Given the description of an element on the screen output the (x, y) to click on. 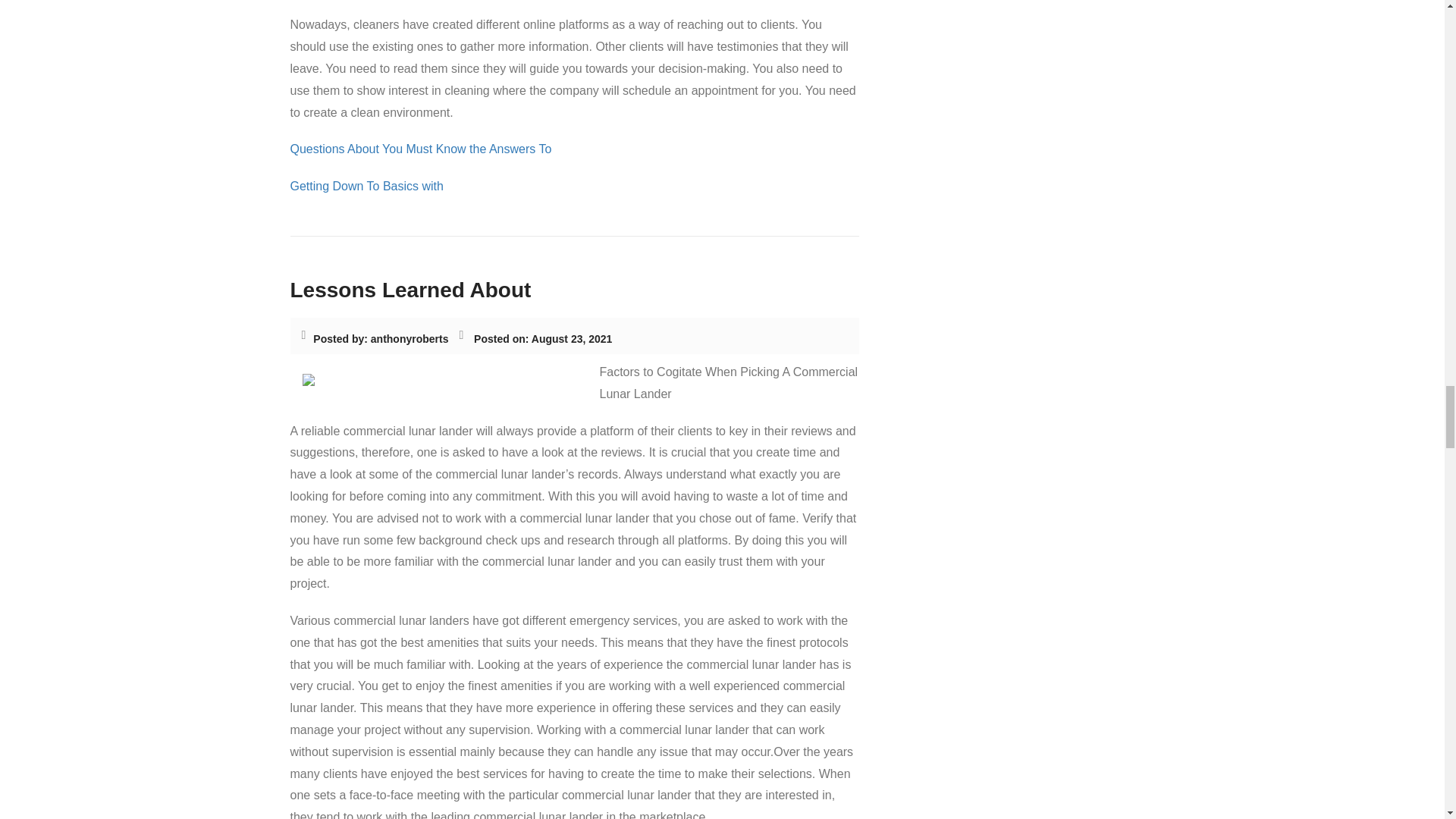
Questions About You Must Know the Answers To (420, 149)
Posted by: anthonyroberts (380, 339)
Lessons Learned About (410, 290)
Posted on: August 23, 2021 (542, 339)
Getting Down To Basics with (365, 187)
